Given the description of an element on the screen output the (x, y) to click on. 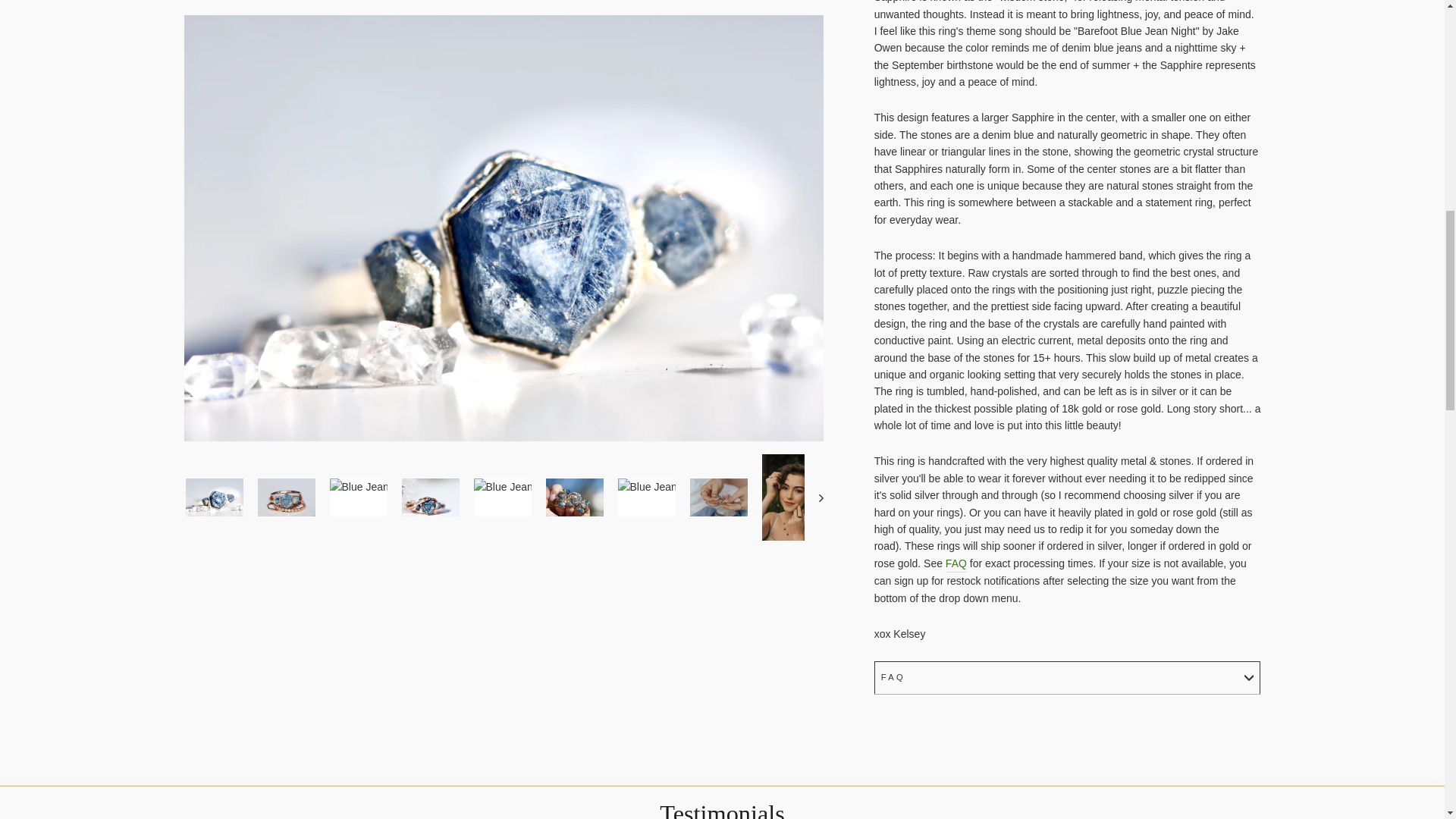
FAQ Processing Times (955, 563)
